Given the description of an element on the screen output the (x, y) to click on. 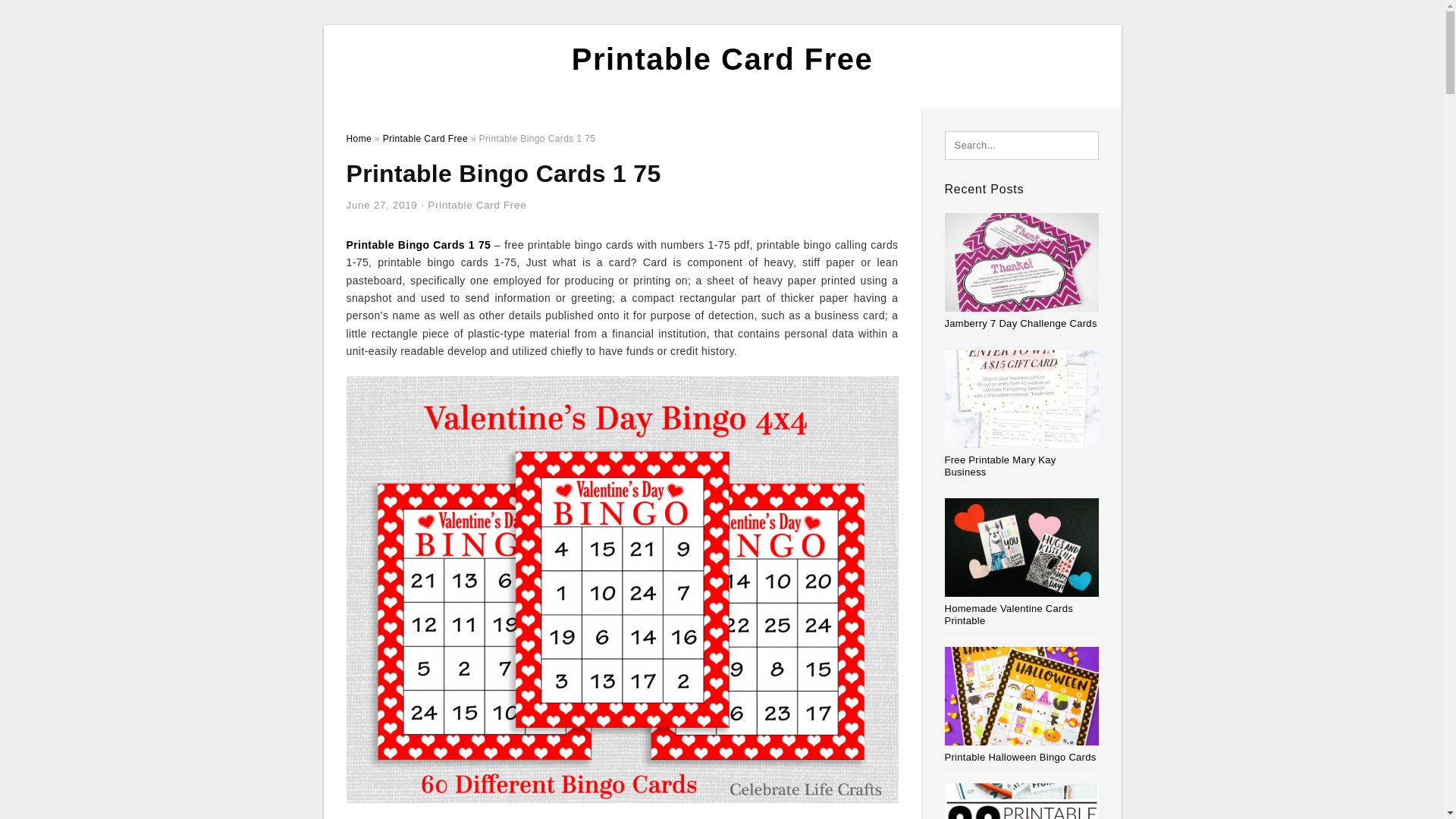
Home (358, 138)
Printable Card Free (476, 204)
Printable Bingo Cards 1 75 (418, 244)
Search (43, 15)
Free Printable Mary Kay Business (1000, 465)
Printable Card Free (424, 138)
Printable Card Free (722, 59)
Jamberry 7 Day Challenge Cards (1020, 323)
Homemade Valentine Cards Printable (1009, 614)
